Given the description of an element on the screen output the (x, y) to click on. 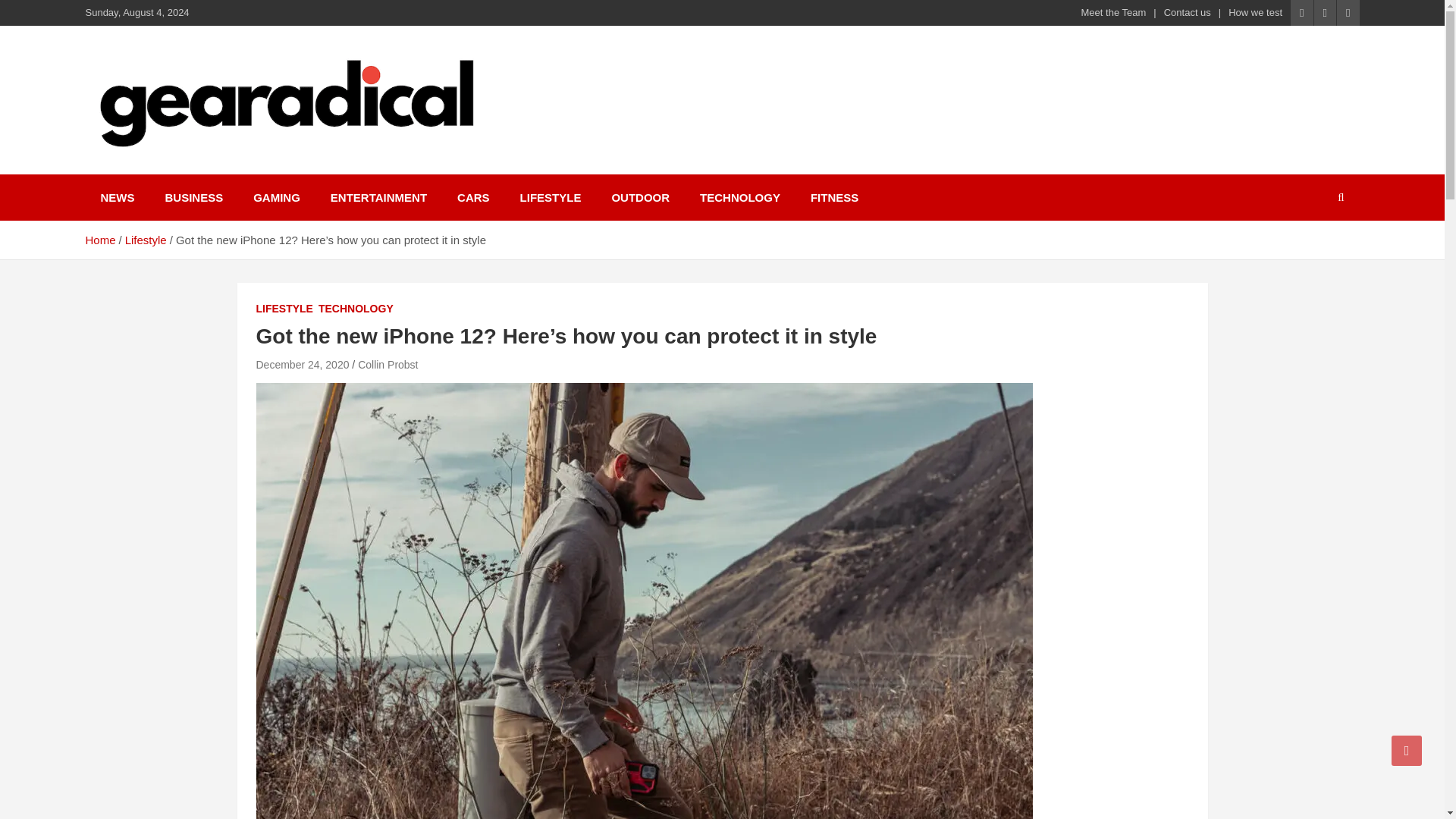
GEARADICAL (185, 171)
ENTERTAINMENT (378, 197)
Contact us (1187, 12)
NEWS (116, 197)
LIFESTYLE (550, 197)
CARS (473, 197)
Collin Probst (387, 364)
BUSINESS (193, 197)
December 24, 2020 (302, 364)
LIFESTYLE (284, 309)
Home (99, 239)
TECHNOLOGY (355, 309)
Meet the Team (1114, 12)
Lifestyle (146, 239)
